Given the description of an element on the screen output the (x, y) to click on. 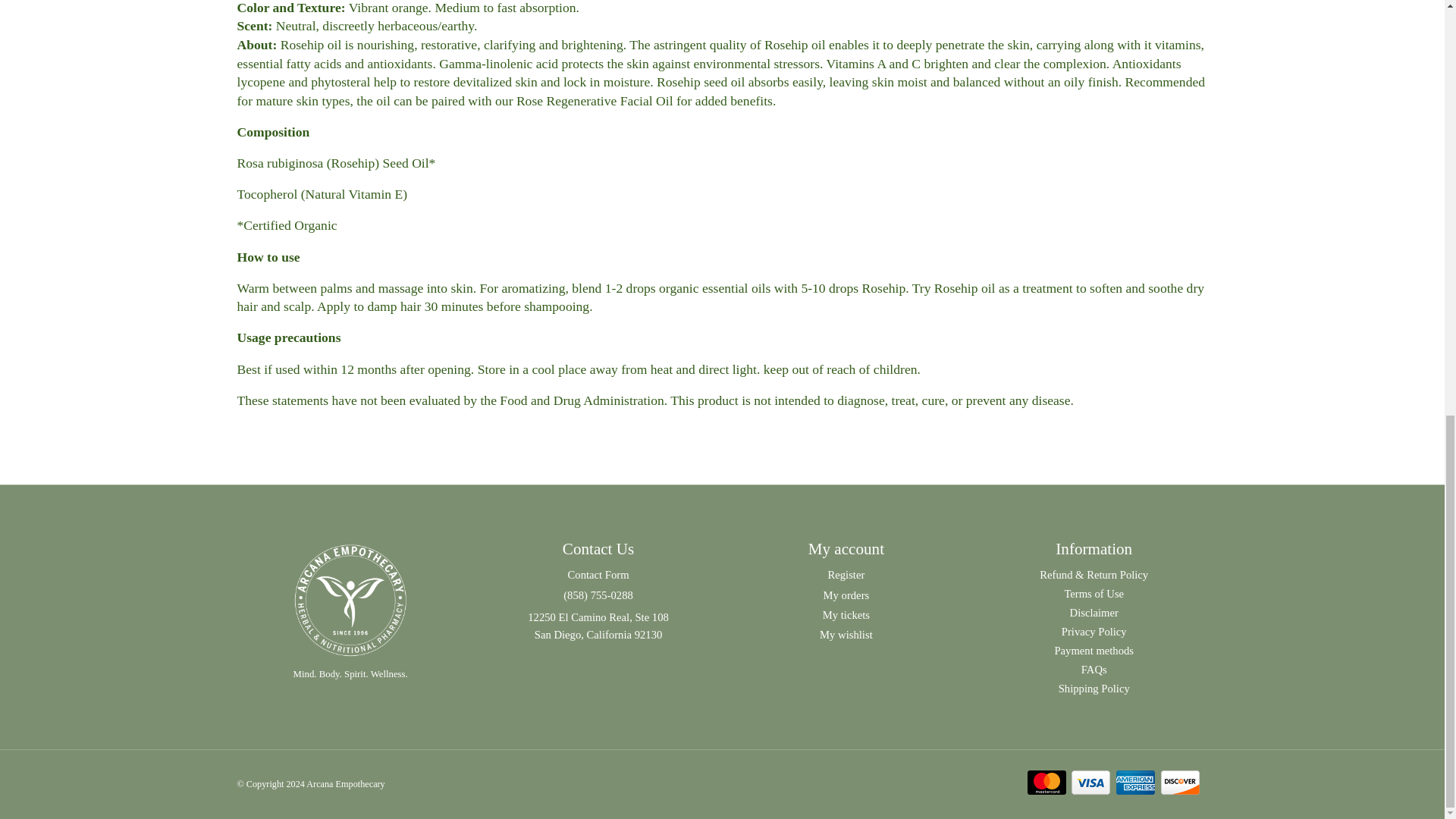
My wishlist (845, 634)
My orders (846, 594)
Privacy Policy (1093, 631)
Register (845, 574)
Terms of Use (1094, 594)
FAQs  (1093, 669)
My tickets (845, 614)
Disclaimer (1094, 612)
Payment methods (1094, 650)
